Given the description of an element on the screen output the (x, y) to click on. 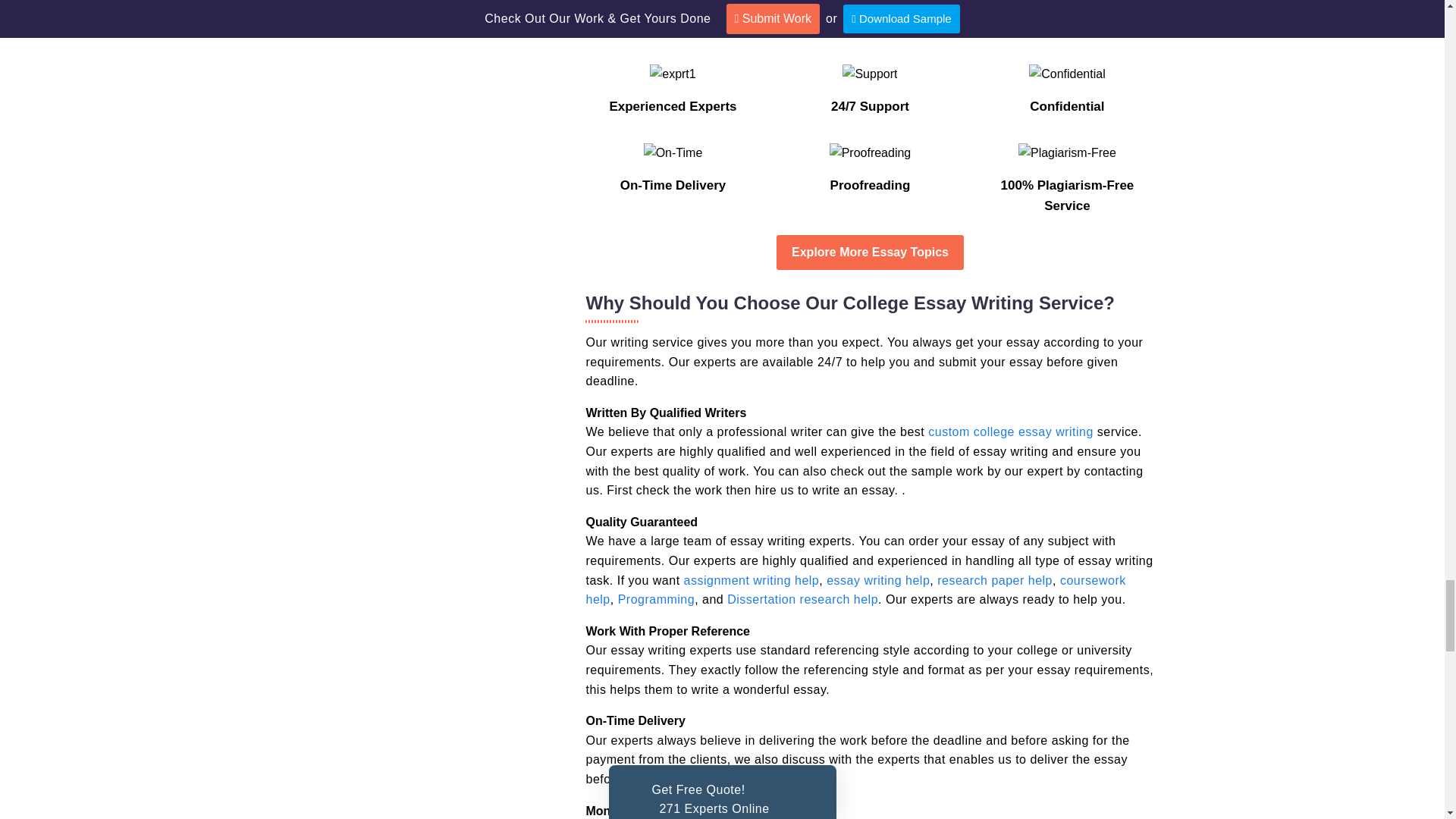
Explore More Topics (869, 252)
